Given the description of an element on the screen output the (x, y) to click on. 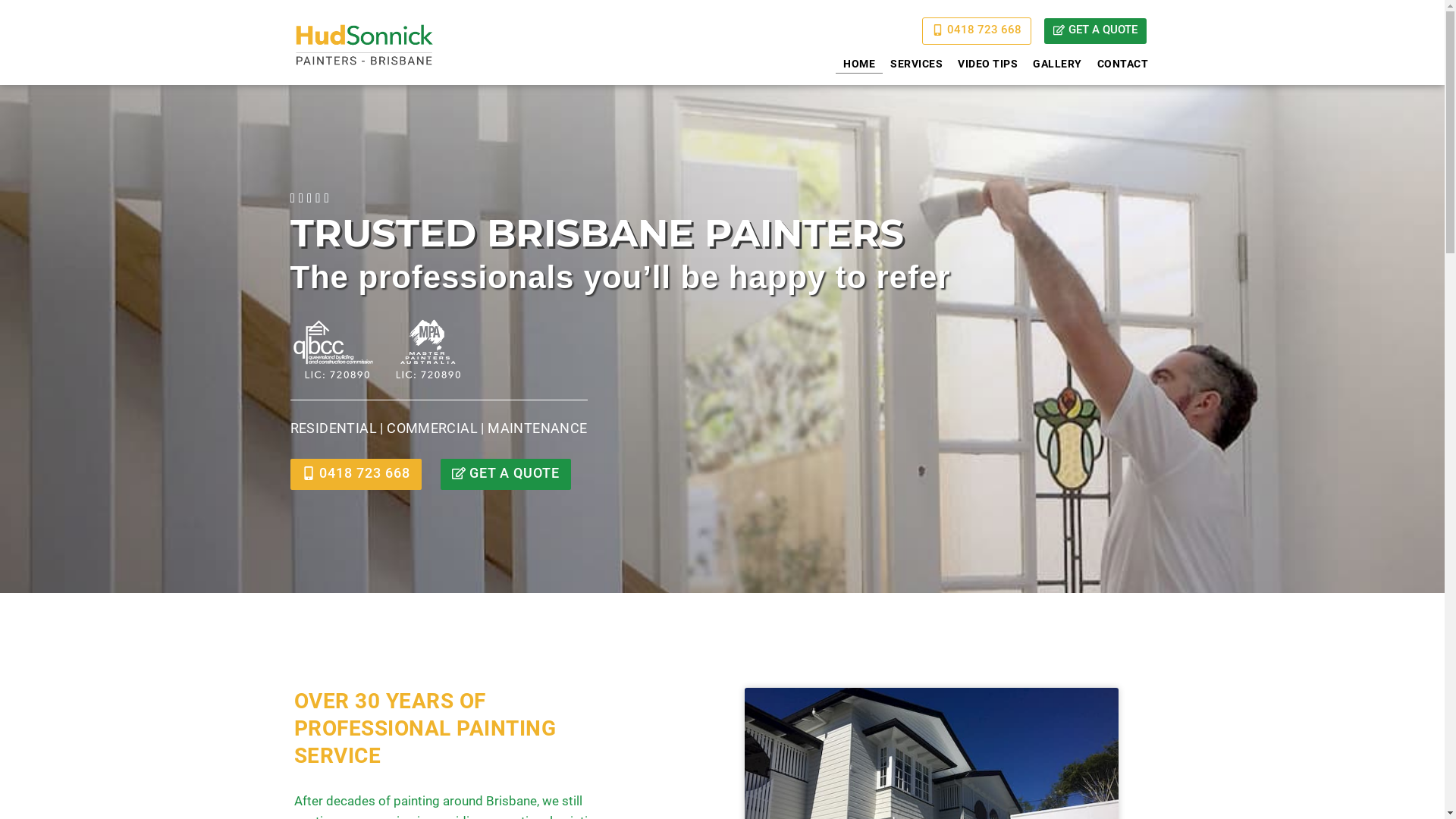
GET A QUOTE Element type: text (1095, 30)
GALLERY Element type: text (1057, 63)
HOME Element type: text (858, 63)
VIDEO TIPS Element type: text (987, 63)
GET A QUOTE Element type: text (504, 473)
0418 723 668 Element type: text (354, 473)
CONTACT Element type: text (1122, 63)
0418 723 668 Element type: text (976, 30)
SERVICES Element type: text (916, 63)
